Given the description of an element on the screen output the (x, y) to click on. 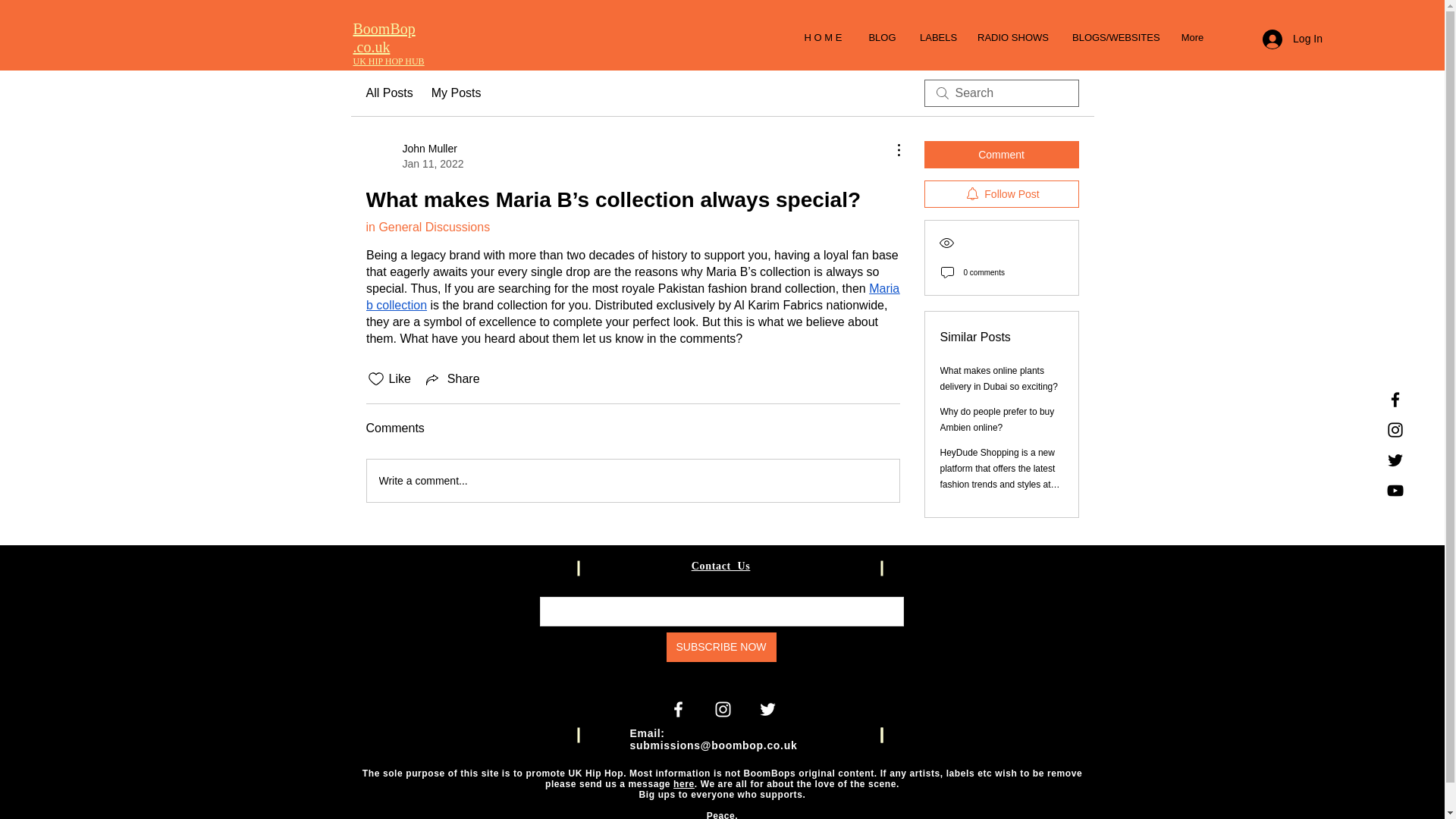
BLOG (882, 37)
RADIO SHOWS (1013, 37)
here (683, 783)
LABELS (936, 37)
Follow Post (1000, 194)
Write a comment... (632, 480)
What makes online plants delivery in Dubai so exciting? (999, 378)
in General Discussions (427, 226)
Contact  Us (721, 565)
My Posts (455, 93)
